Given the description of an element on the screen output the (x, y) to click on. 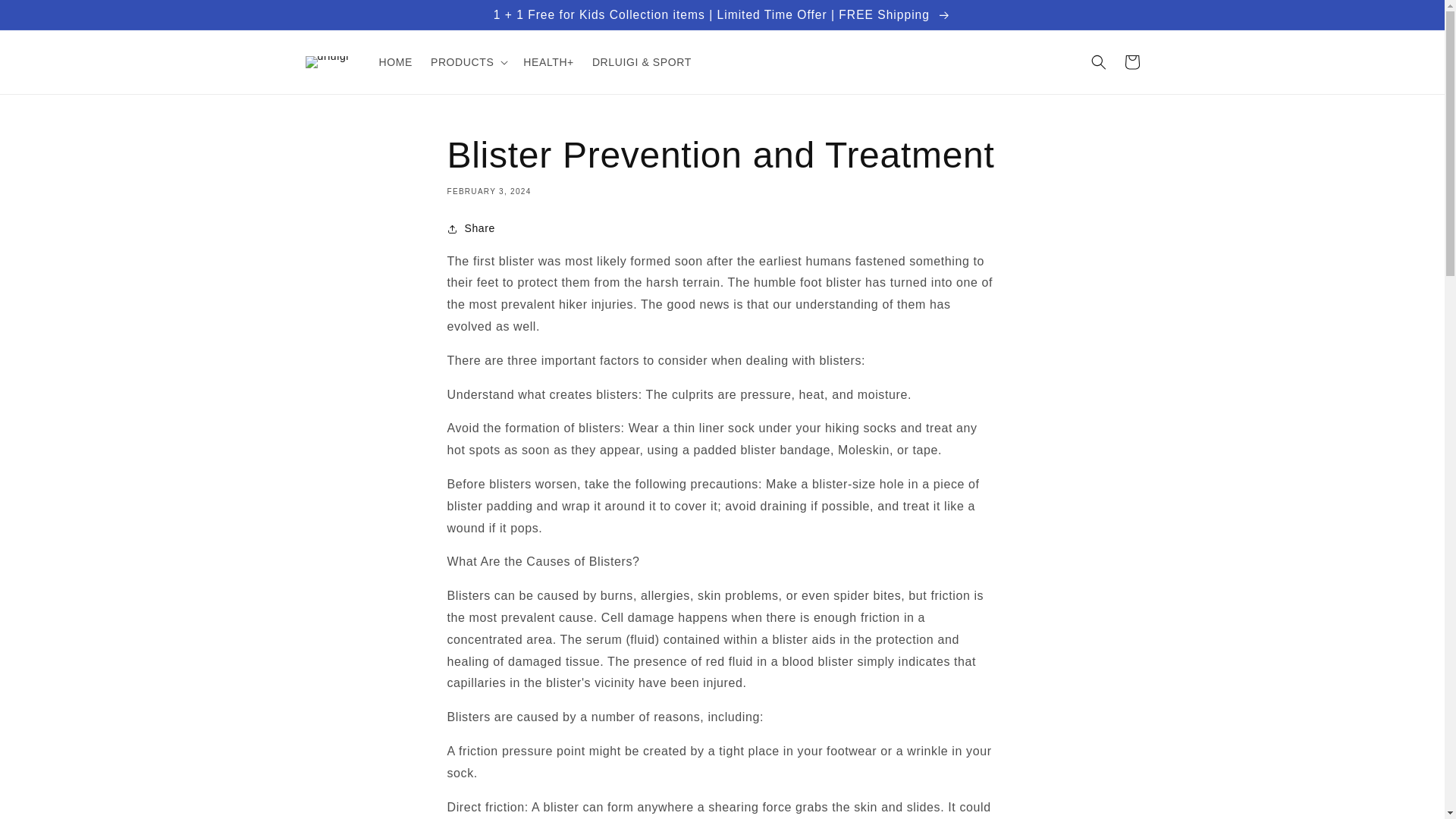
Cart (1131, 61)
HOME (395, 61)
Skip to content (45, 17)
